Given the description of an element on the screen output the (x, y) to click on. 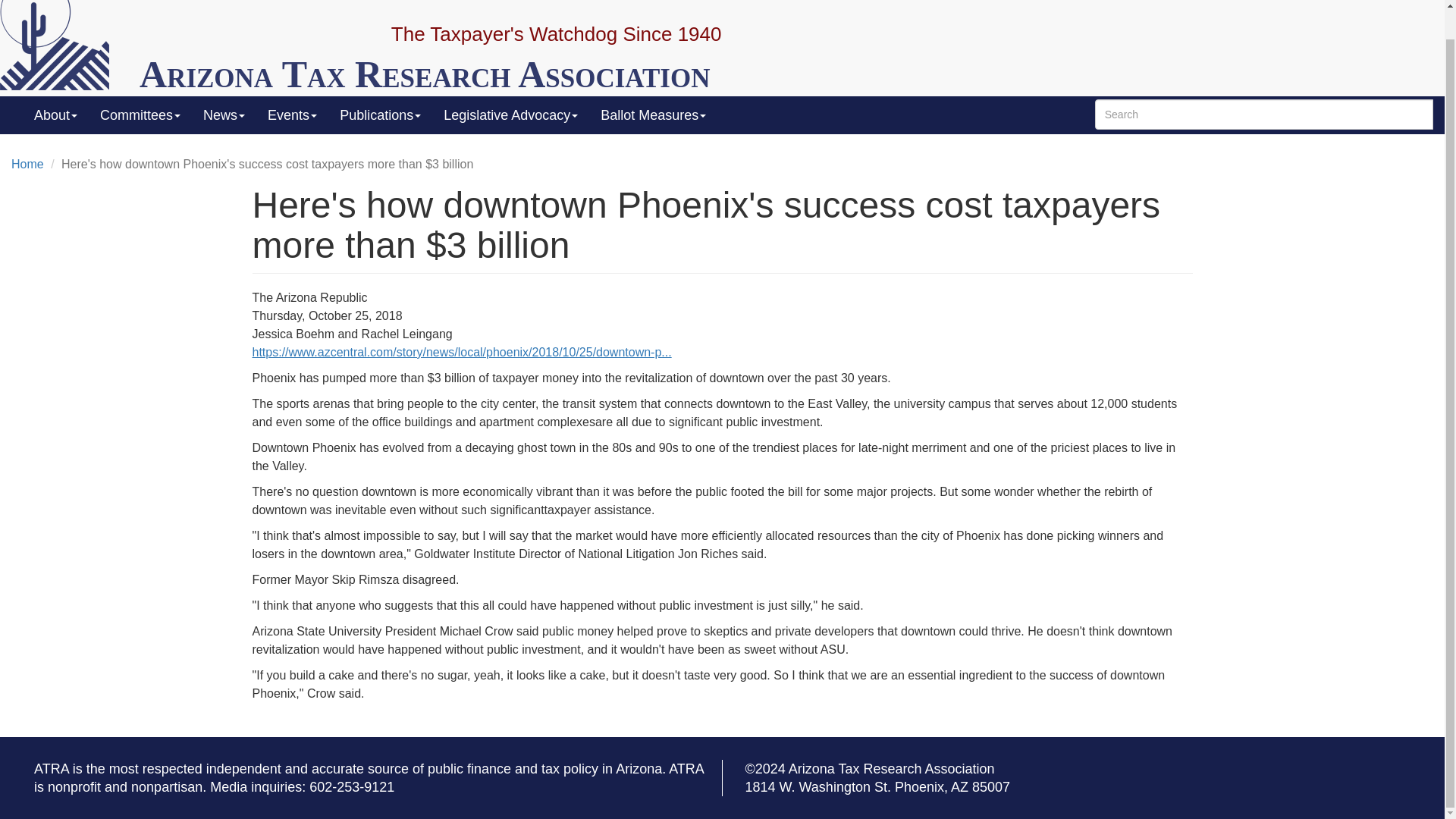
About (55, 115)
Home (424, 74)
Home (64, 45)
Committees (140, 115)
Enter the terms you wish to search for. (1263, 114)
News (224, 115)
Arizona Tax Research Association (424, 74)
